Given the description of an element on the screen output the (x, y) to click on. 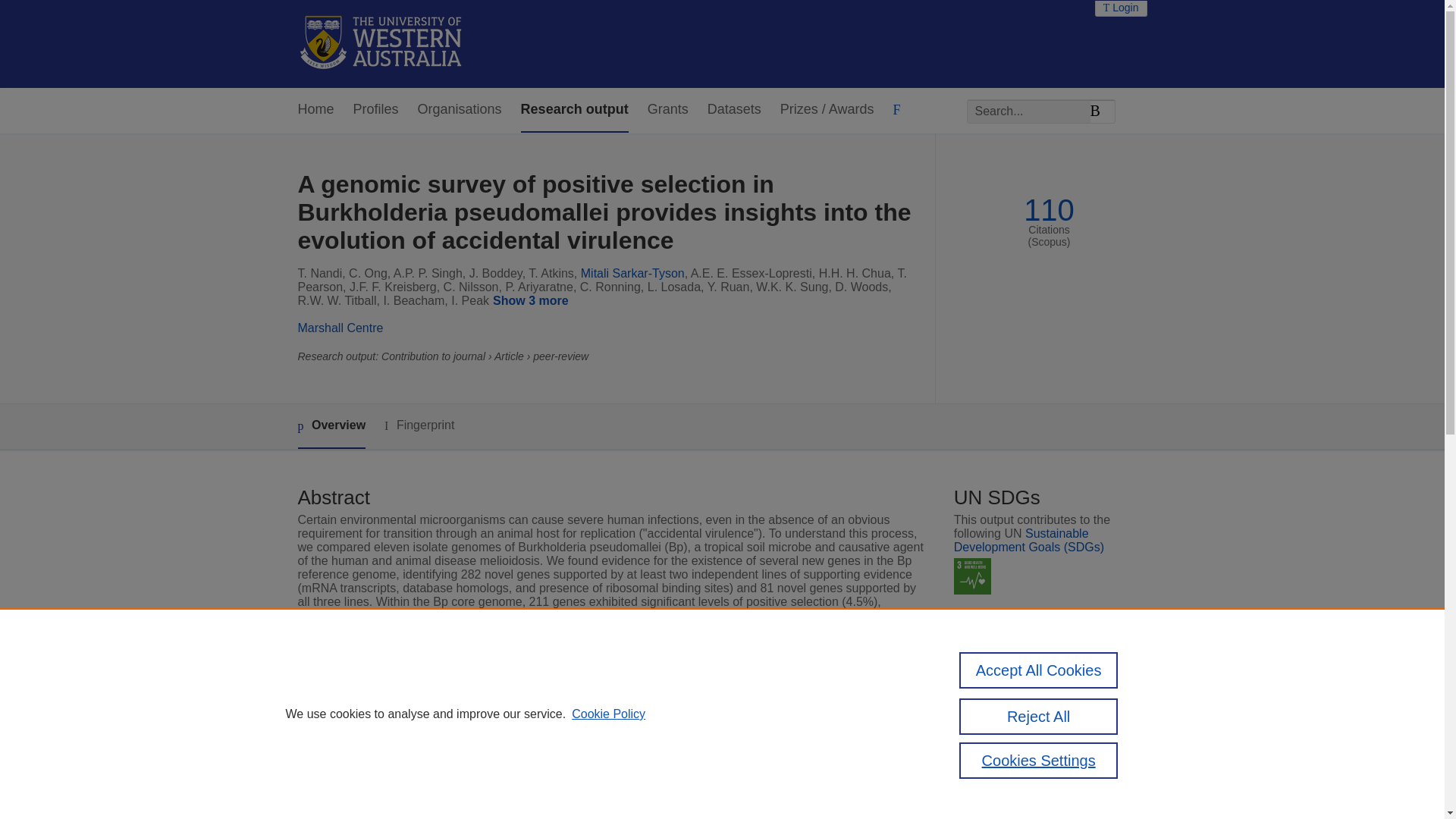
Profiles (375, 109)
Research output (574, 109)
Datasets (734, 109)
Show 3 more (533, 301)
PLoS Pathogens (556, 774)
Grants (667, 109)
Login (1121, 7)
SDG 3 - Good Health and Well-being (972, 576)
Fingerprint (419, 425)
Marshall Centre (339, 327)
